Given the description of an element on the screen output the (x, y) to click on. 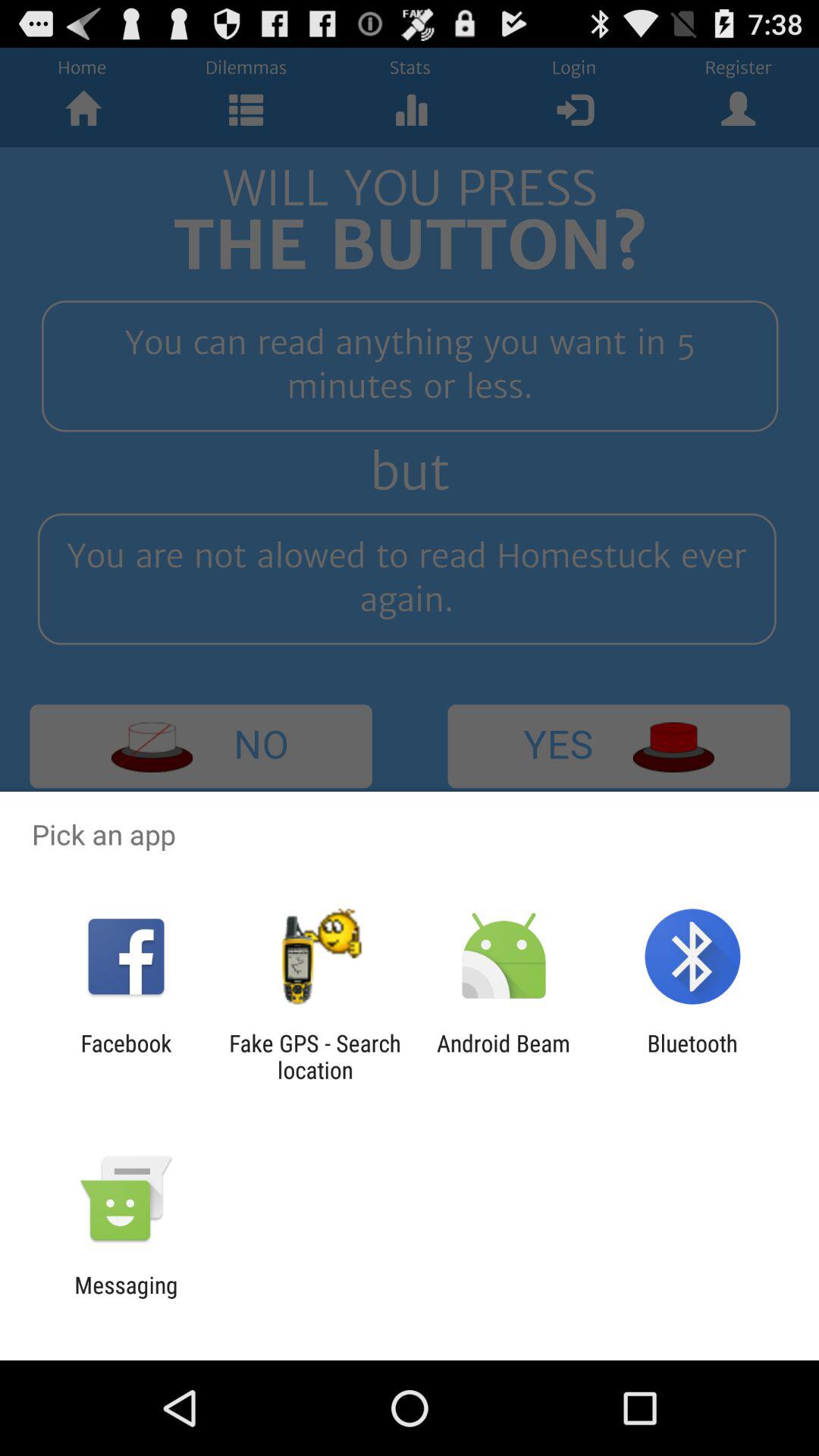
turn on item to the left of the bluetooth item (503, 1056)
